Given the description of an element on the screen output the (x, y) to click on. 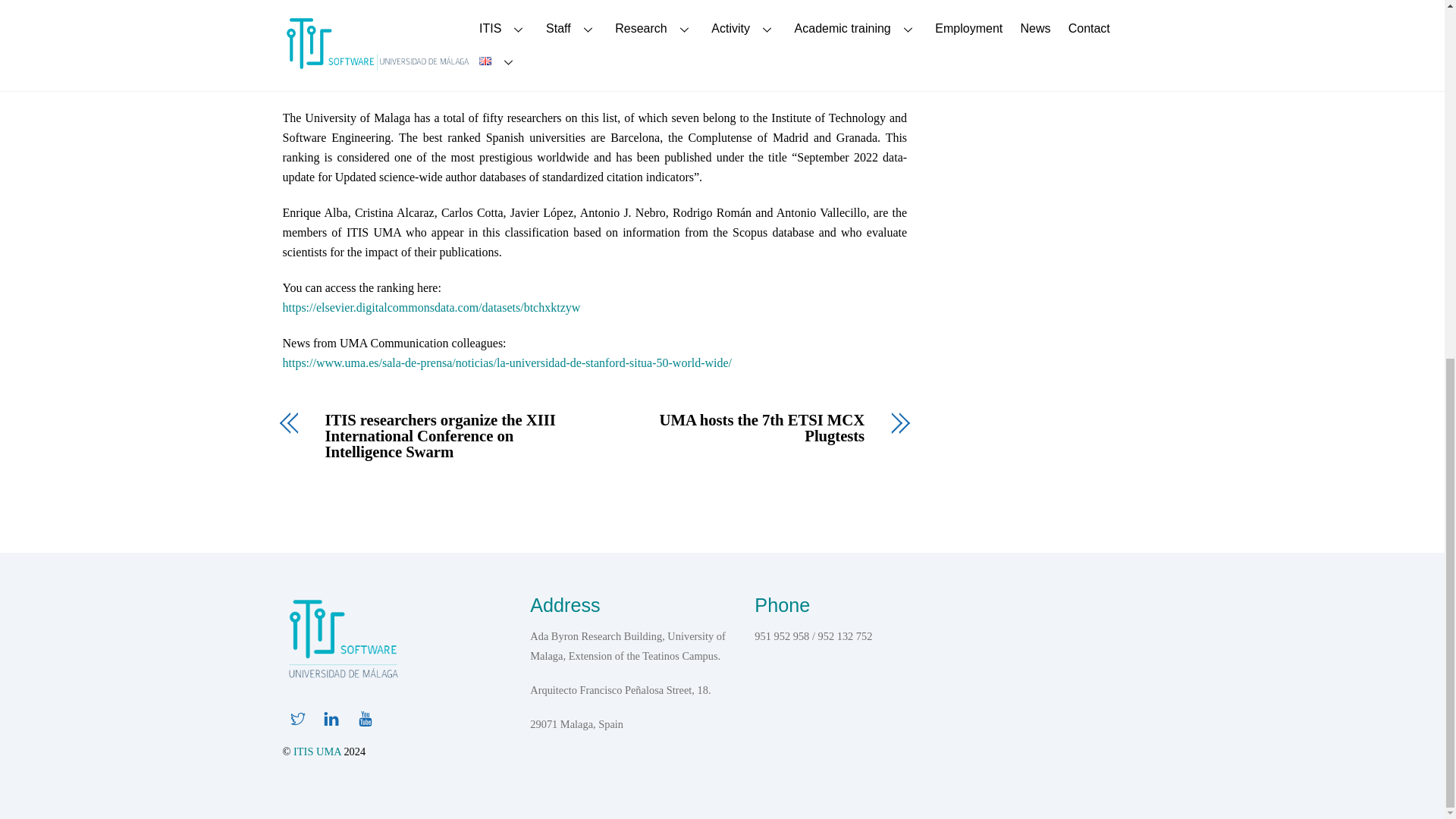
ITIS UMA (342, 679)
UMA hosts the 7th ETSI MCX Plugtests (738, 428)
